Given the description of an element on the screen output the (x, y) to click on. 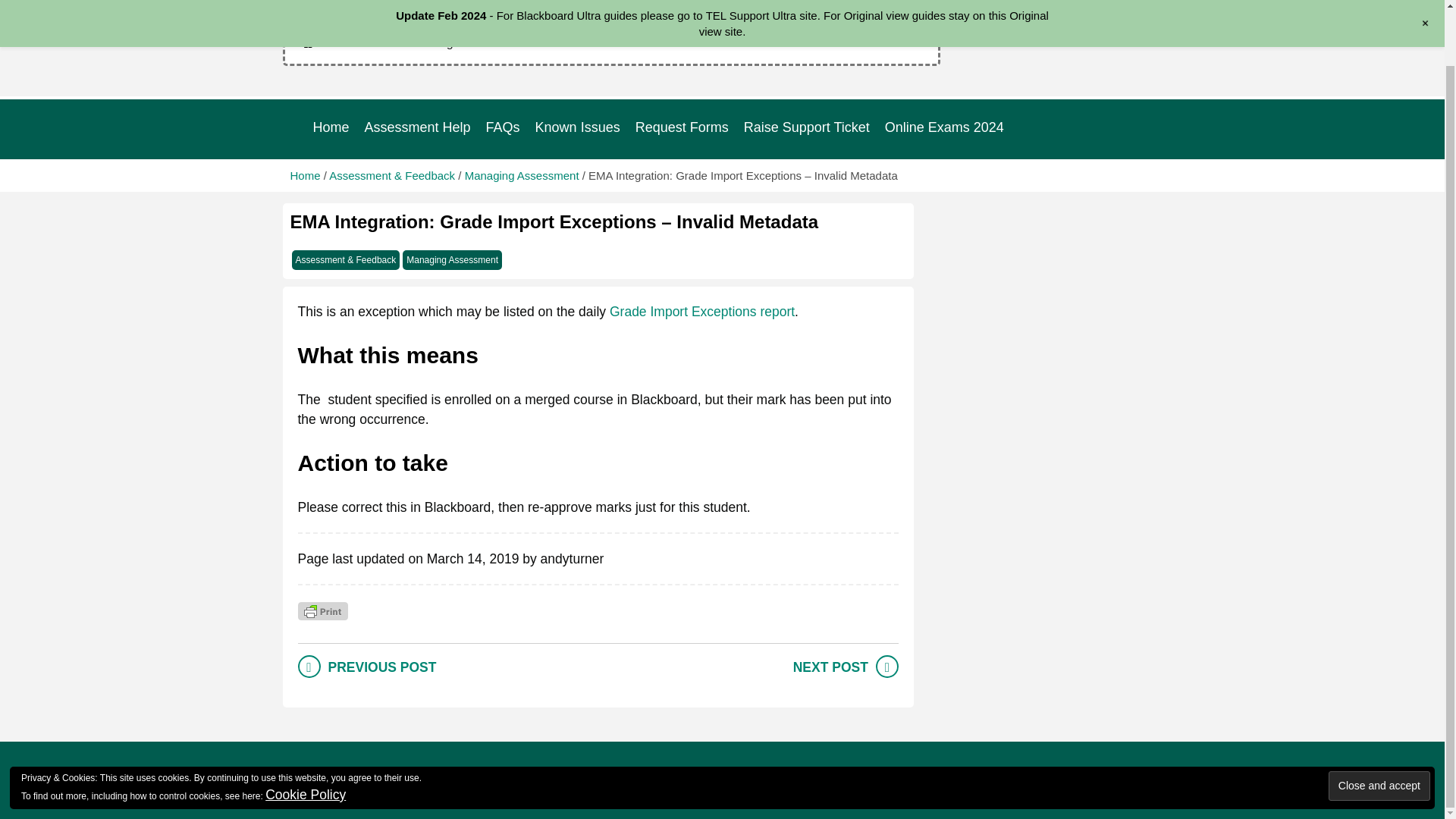
Managing Assessment (521, 174)
Home (331, 127)
Home (304, 174)
Close and accept (1378, 725)
Search the Knowledge Base (611, 43)
Grade Import Exceptions report (702, 310)
Raise Support Ticket (806, 127)
PREVIOUS POST (381, 667)
Cookie Policy (305, 734)
Accessibility (911, 774)
Assessment Help (417, 127)
NEXT POST (830, 667)
Blackboard Help for Staff (408, 6)
Known Issues (577, 127)
Cookies policy (812, 774)
